Given the description of an element on the screen output the (x, y) to click on. 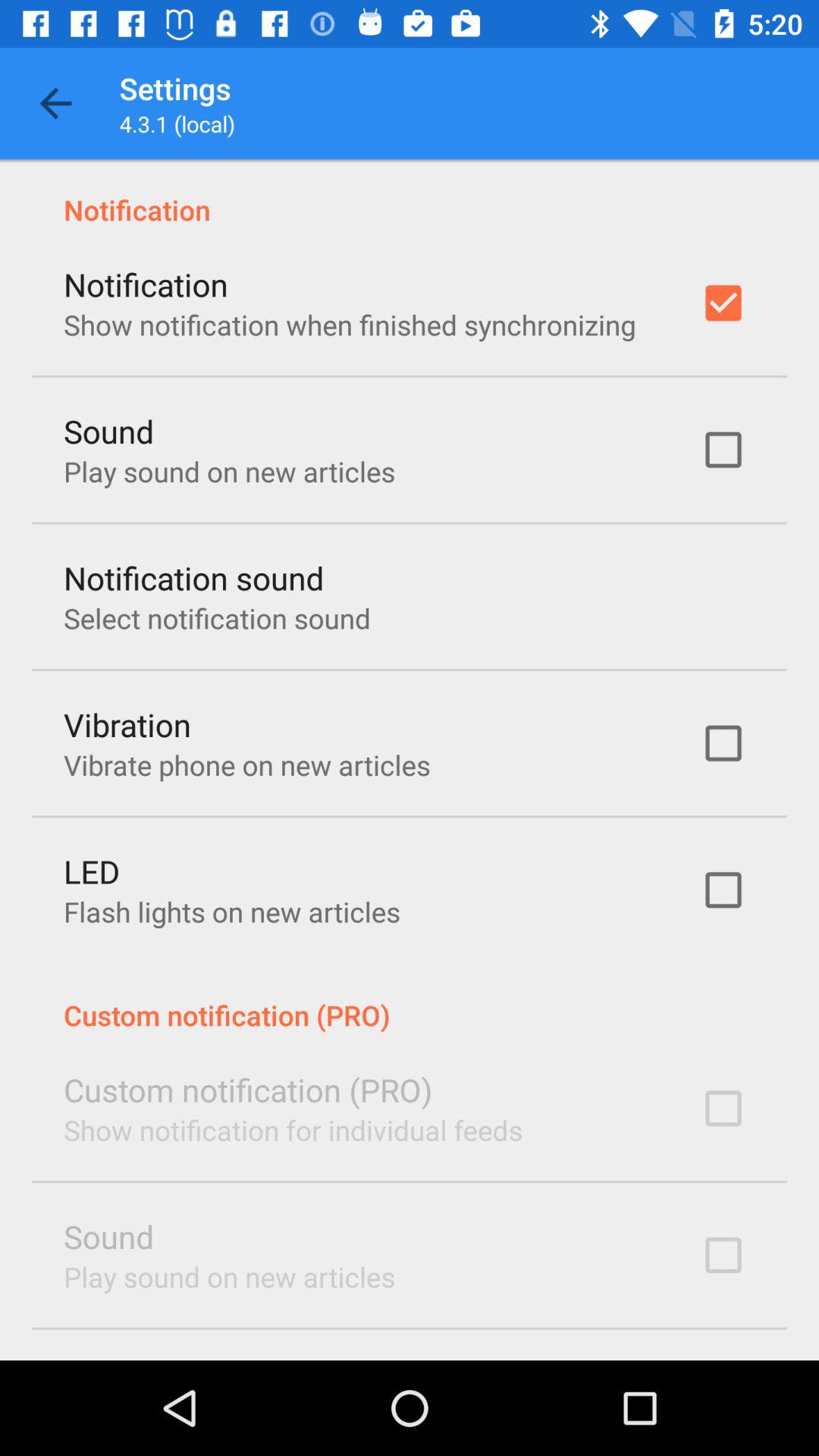
turn off the flash lights on item (231, 911)
